Given the description of an element on the screen output the (x, y) to click on. 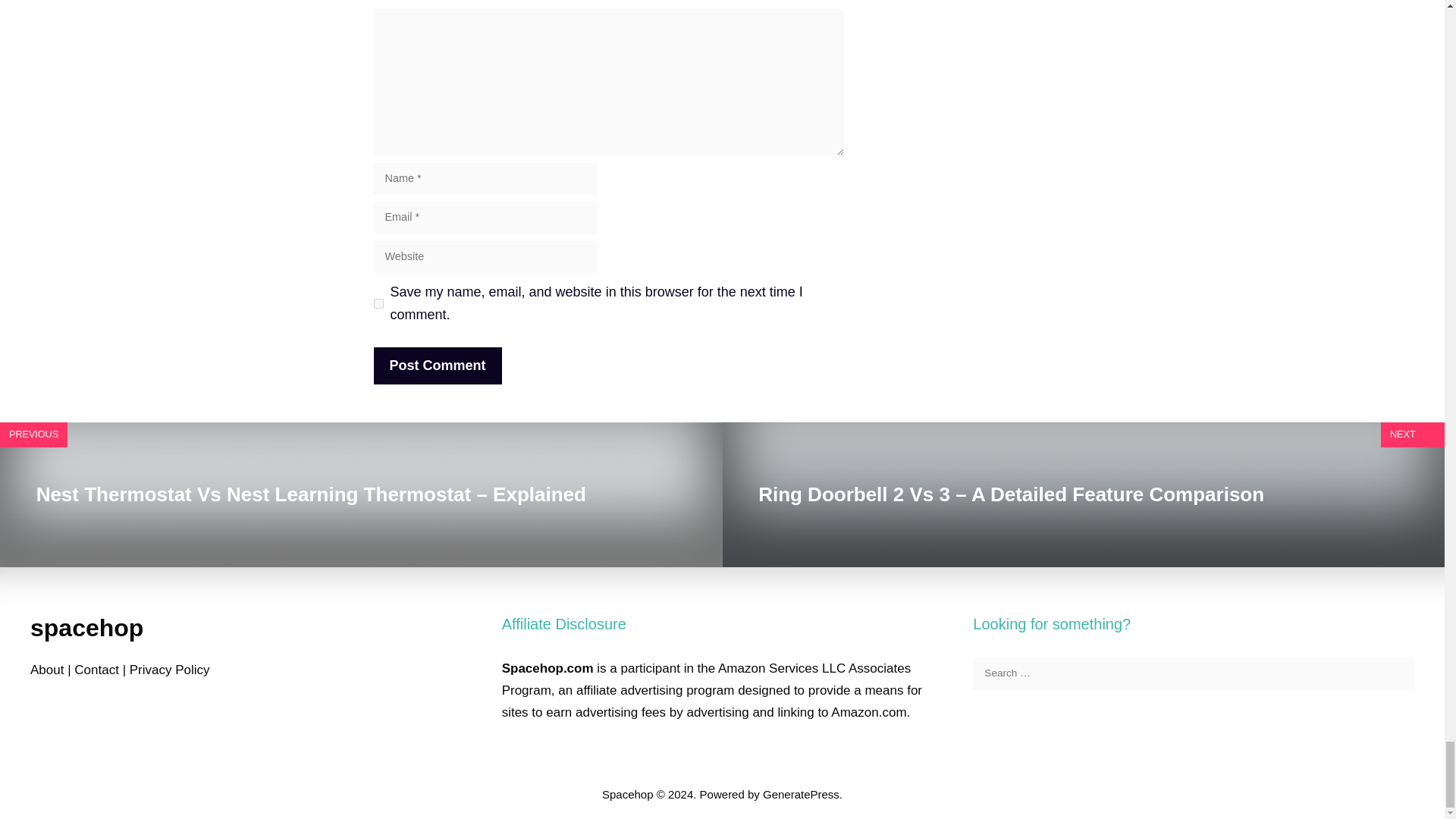
Post Comment (436, 365)
yes (377, 303)
